Given the description of an element on the screen output the (x, y) to click on. 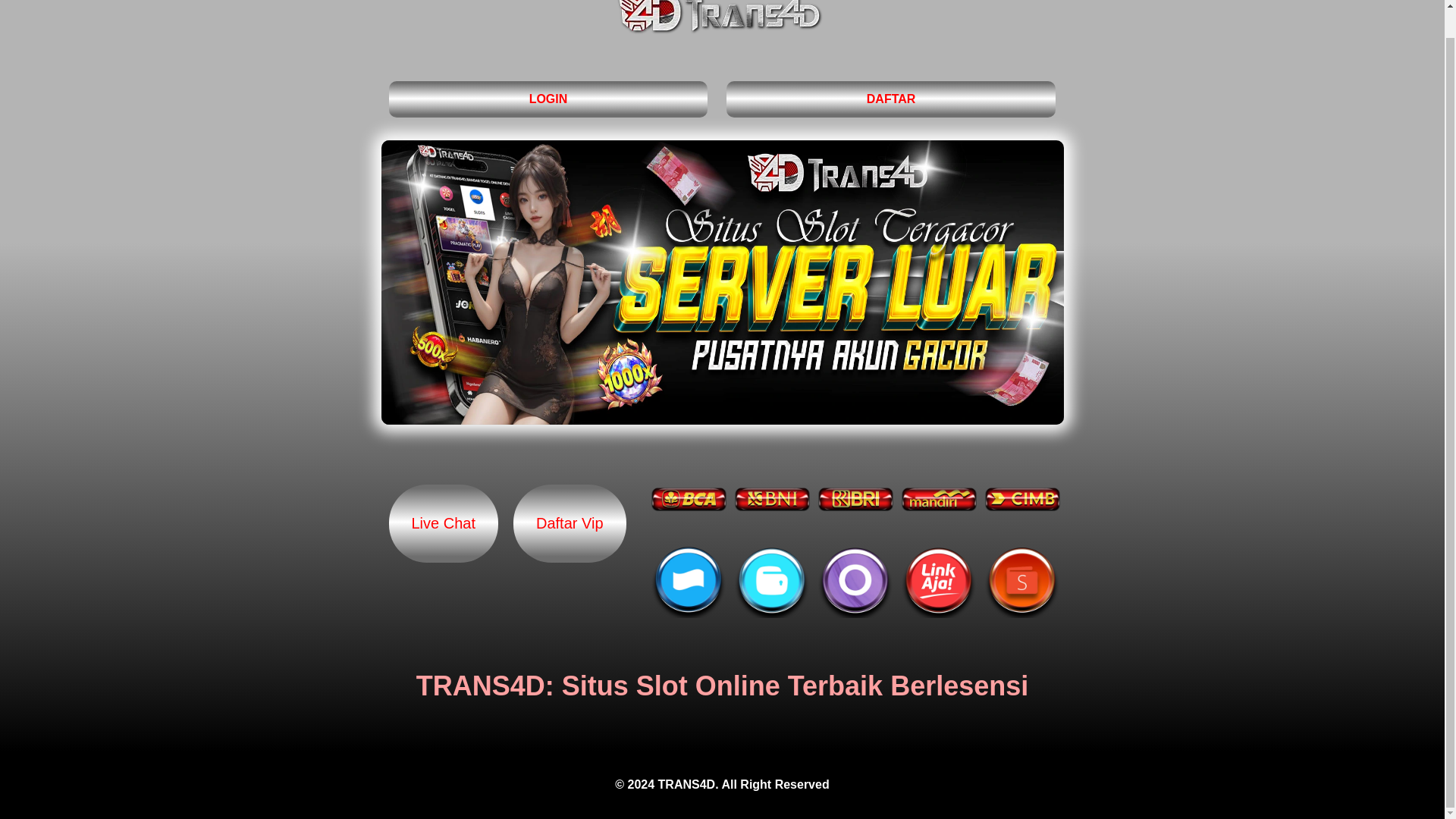
Daftar Vip (569, 523)
DAFTAR (891, 99)
LOGIN (547, 99)
Live Chat (442, 523)
